Given the description of an element on the screen output the (x, y) to click on. 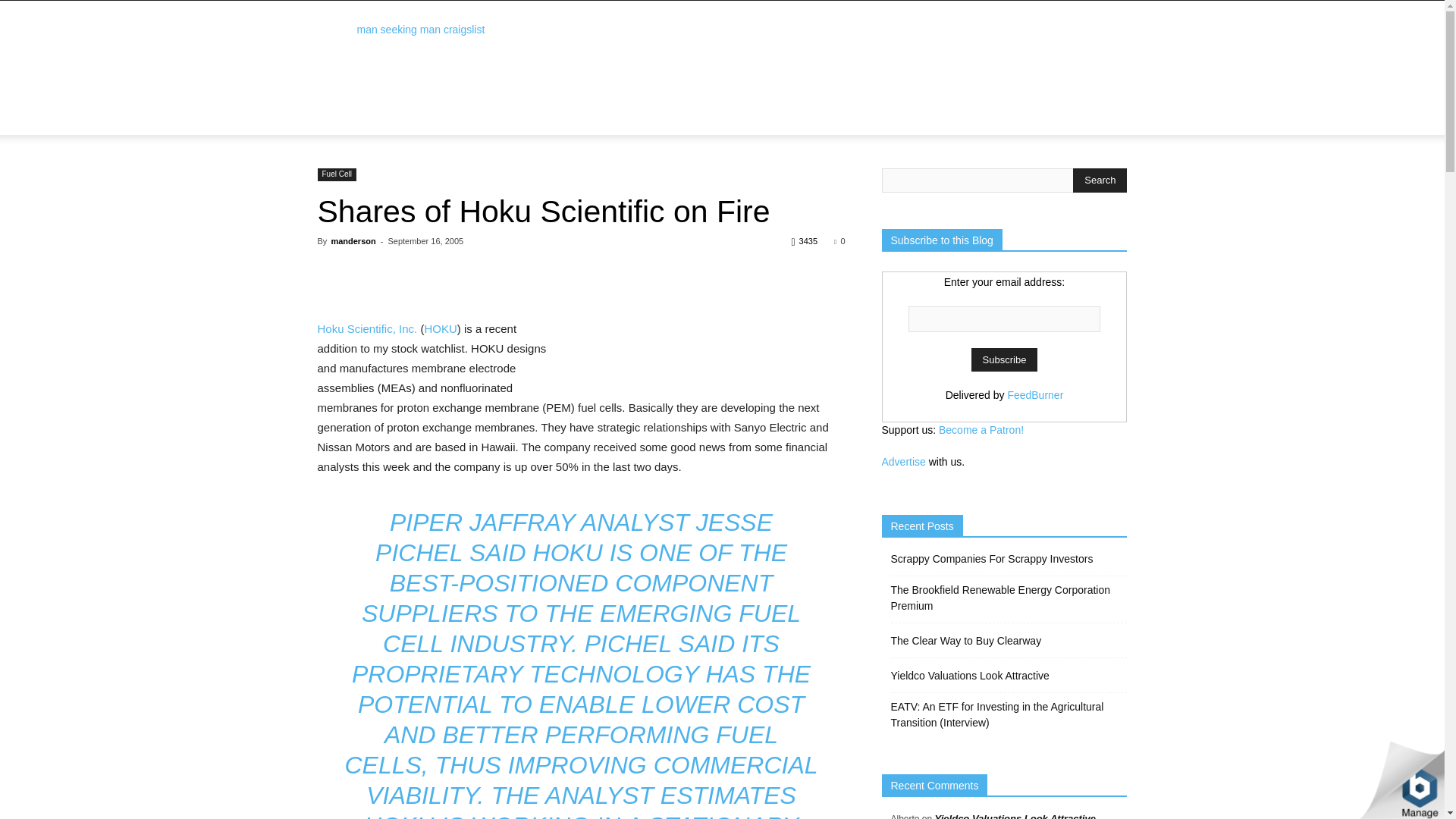
ELECTRIC GRID (363, 125)
ETFs (559, 106)
BATTERY (855, 106)
CONTACT (697, 125)
BIOFUEL (793, 106)
ALTERNATIVE TRANSPORT (594, 125)
Advertisement (850, 56)
MUTUAL FUNDS (491, 106)
WIND (603, 106)
Search (1085, 139)
EFFICIENT VEHICLES (466, 125)
Fuel Cell (336, 174)
man seeking man craigslist (420, 29)
manderson (352, 240)
GEOTHERMAL (720, 106)
